Given the description of an element on the screen output the (x, y) to click on. 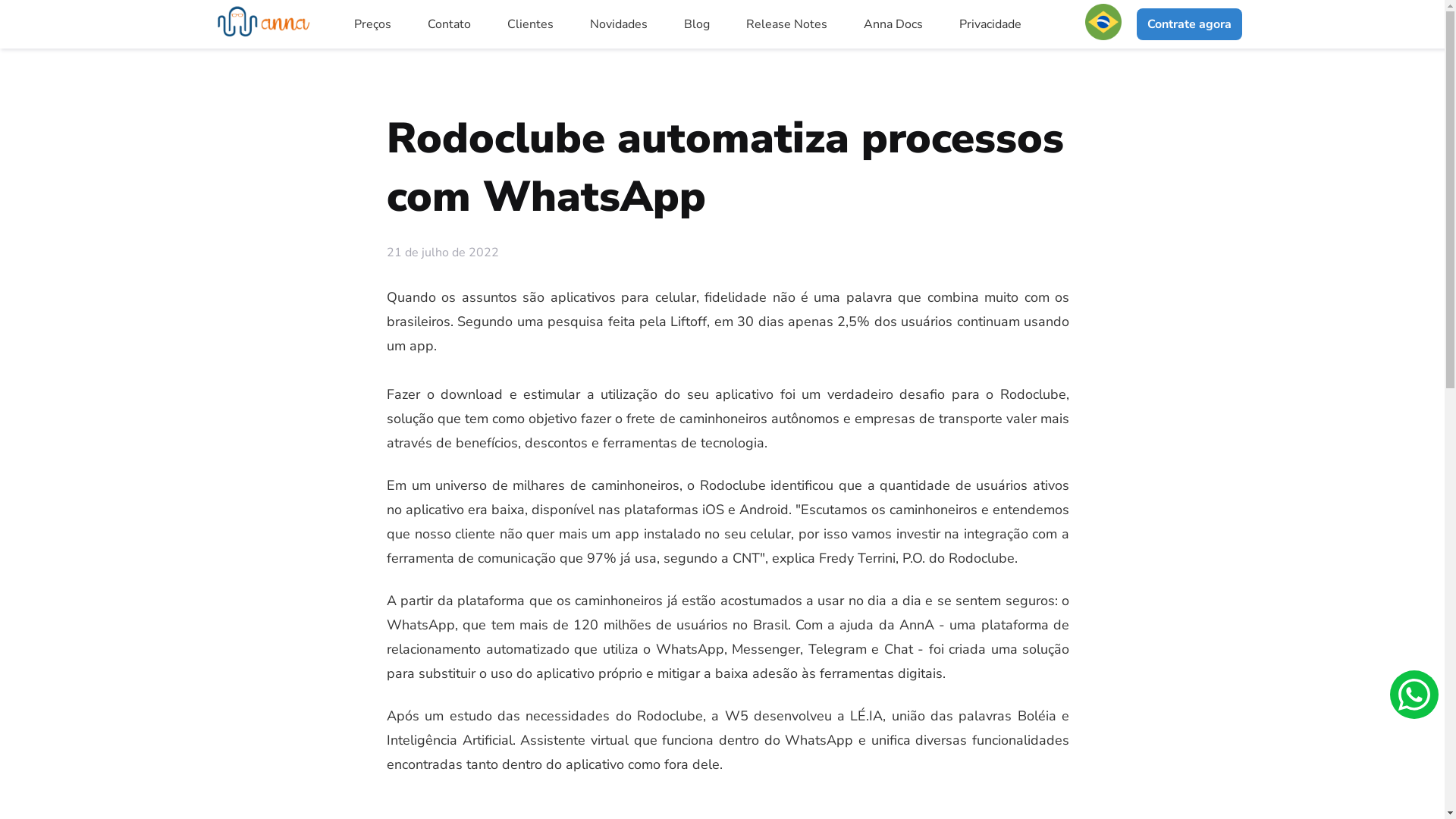
Clientes Element type: text (530, 24)
Novidades Element type: text (618, 24)
Release Notes Element type: text (786, 24)
Contrate agora Element type: text (1189, 23)
Contato Element type: text (448, 24)
Privacidade Element type: text (990, 24)
Blog Element type: text (696, 24)
Anna Docs Element type: text (892, 24)
